Given the description of an element on the screen output the (x, y) to click on. 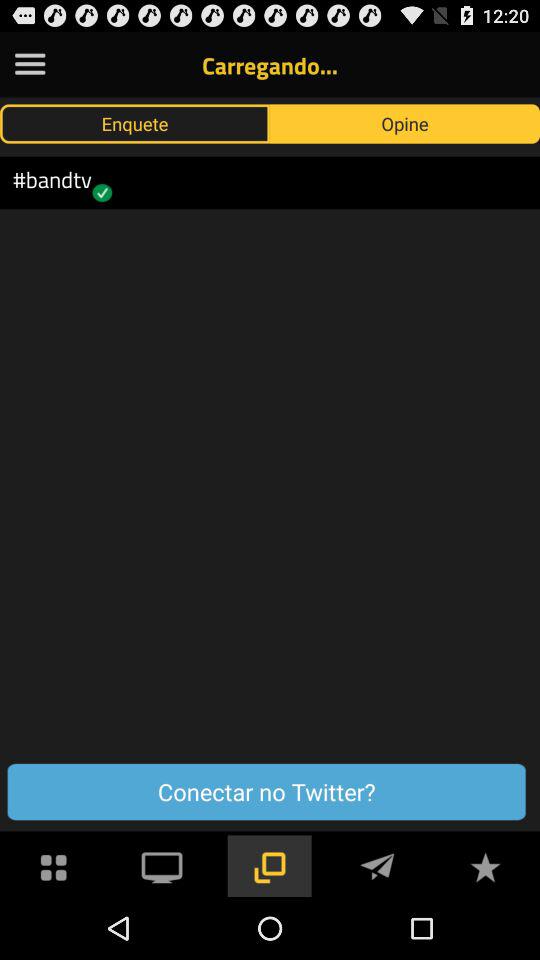
launch icon to the left of carregando... item (29, 64)
